Given the description of an element on the screen output the (x, y) to click on. 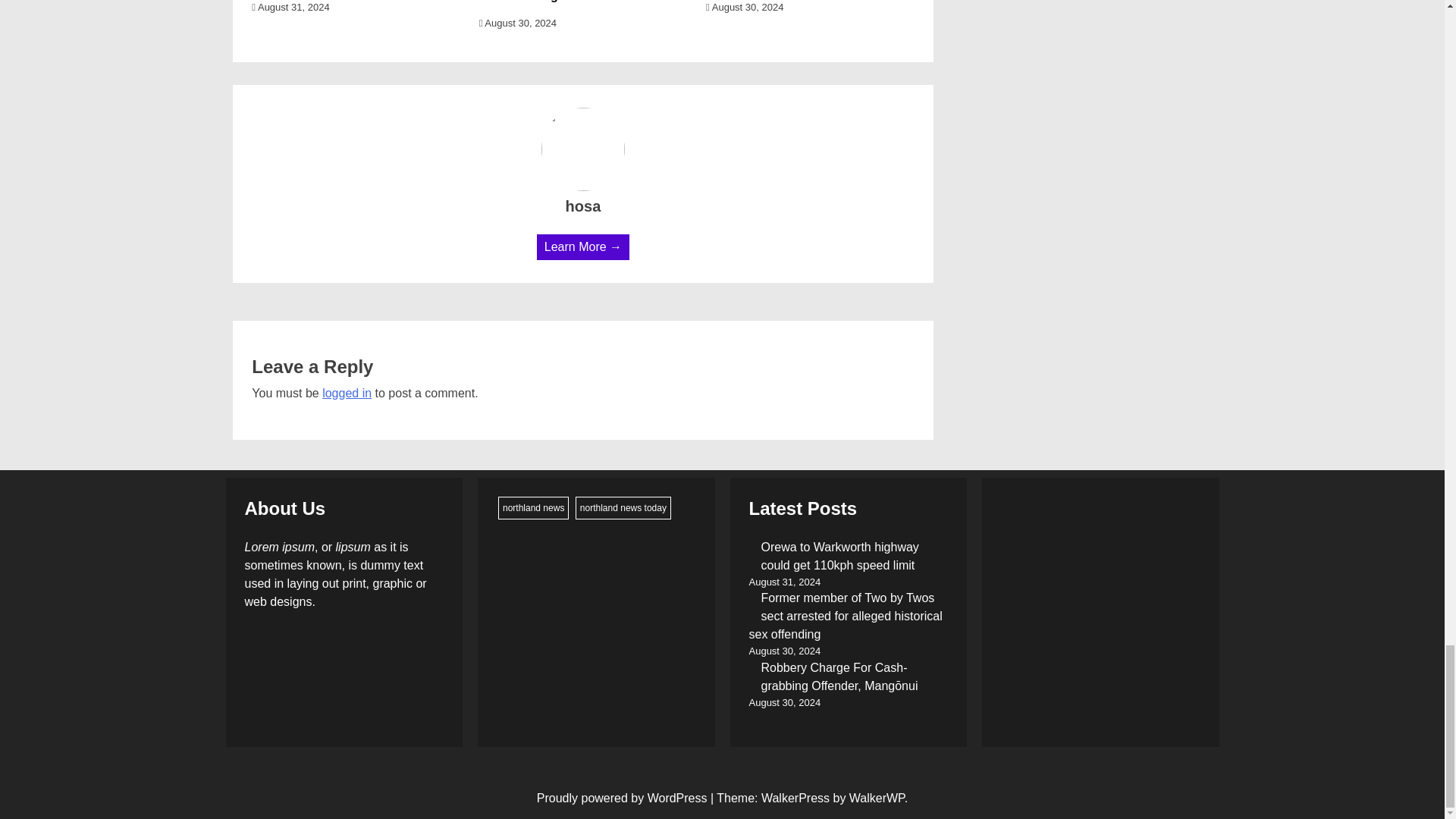
August 30, 2024 (744, 7)
August 30, 2024 (517, 22)
August 31, 2024 (290, 7)
logged in (346, 392)
